Given the description of an element on the screen output the (x, y) to click on. 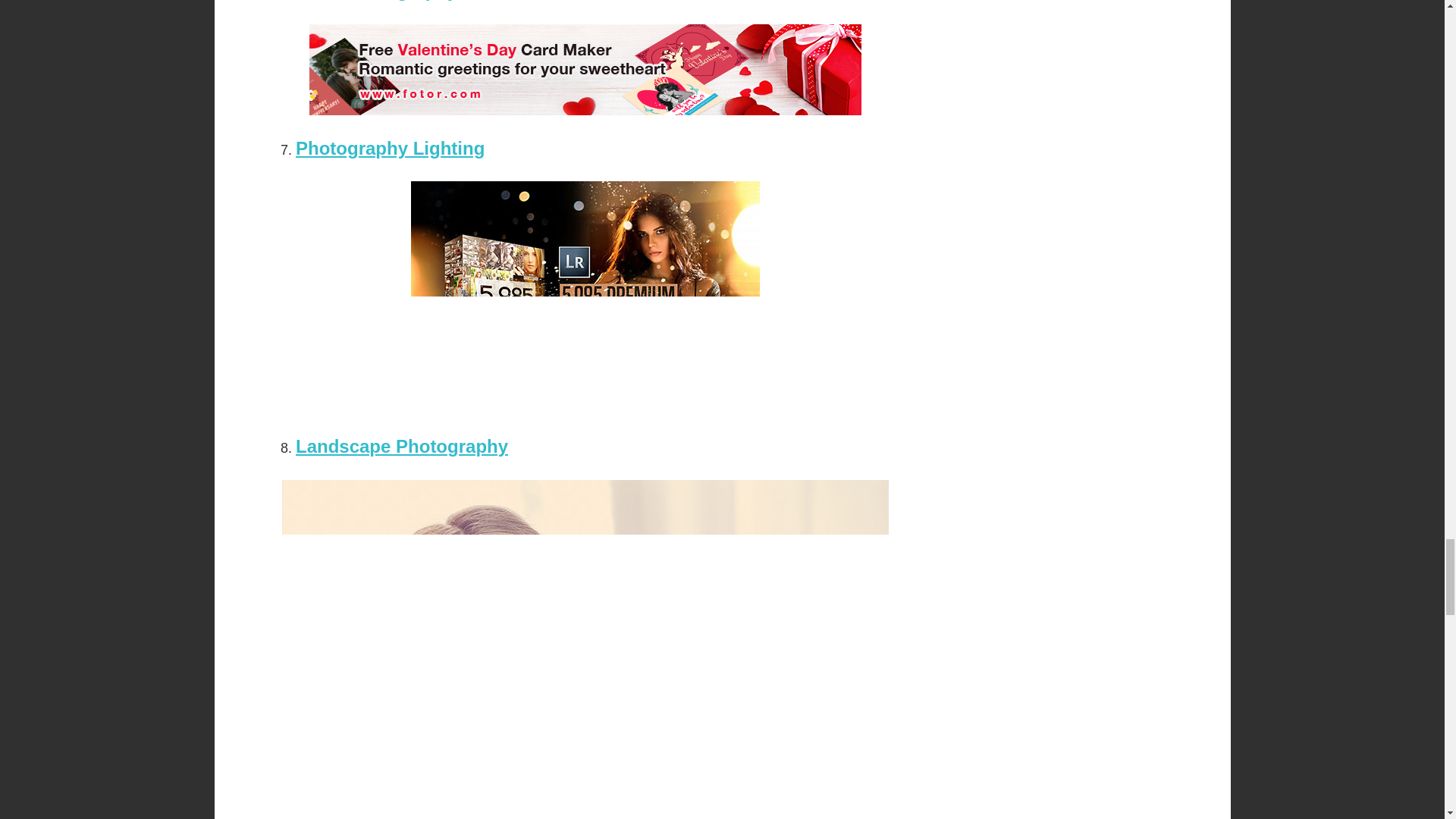
16 Best Ways to Learn Photography with Udemy 9 (585, 296)
16 Best Ways to Learn Photography with Udemy 8 (584, 69)
